Given the description of an element on the screen output the (x, y) to click on. 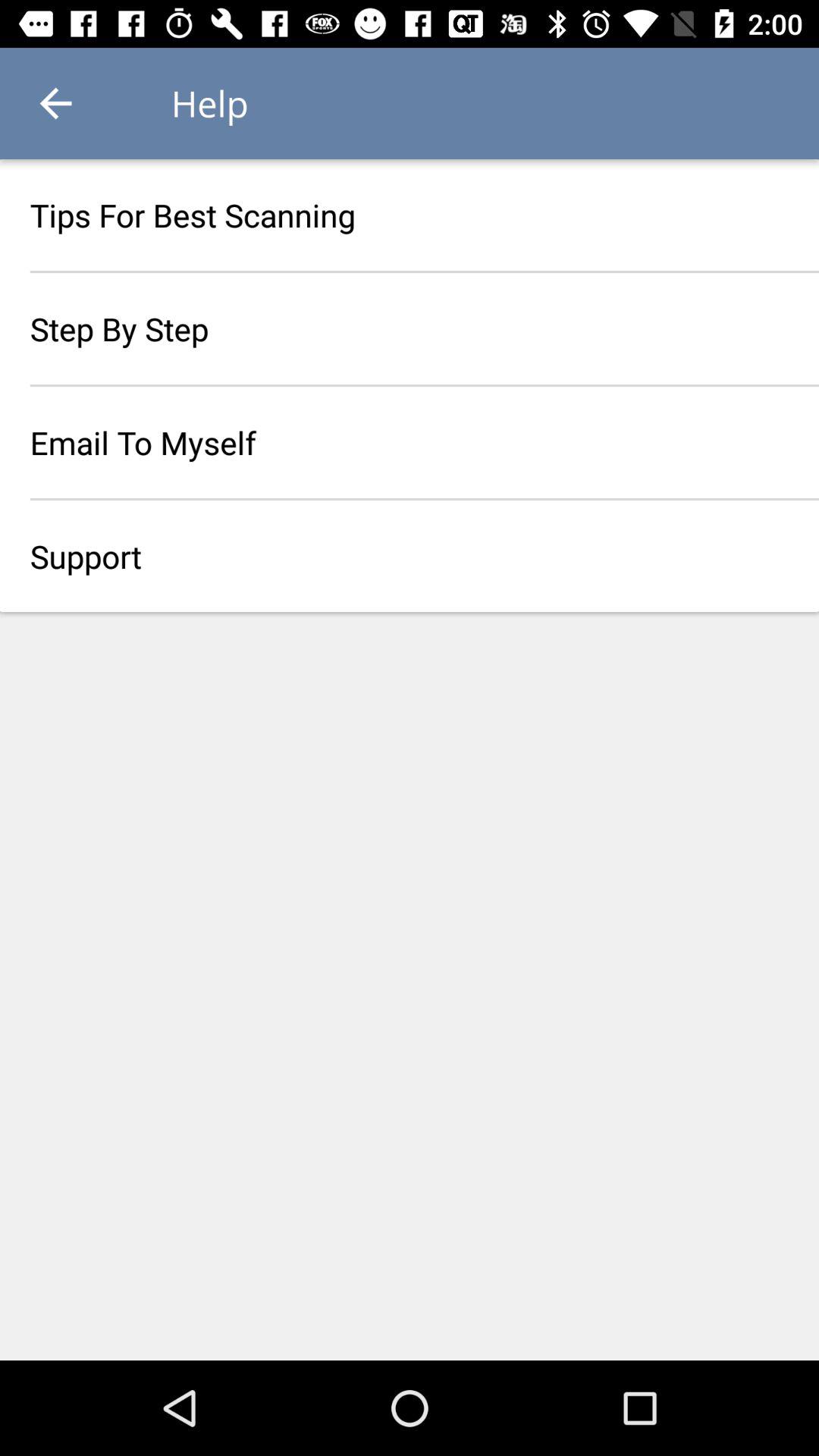
turn on icon to the left of the help (55, 103)
